Given the description of an element on the screen output the (x, y) to click on. 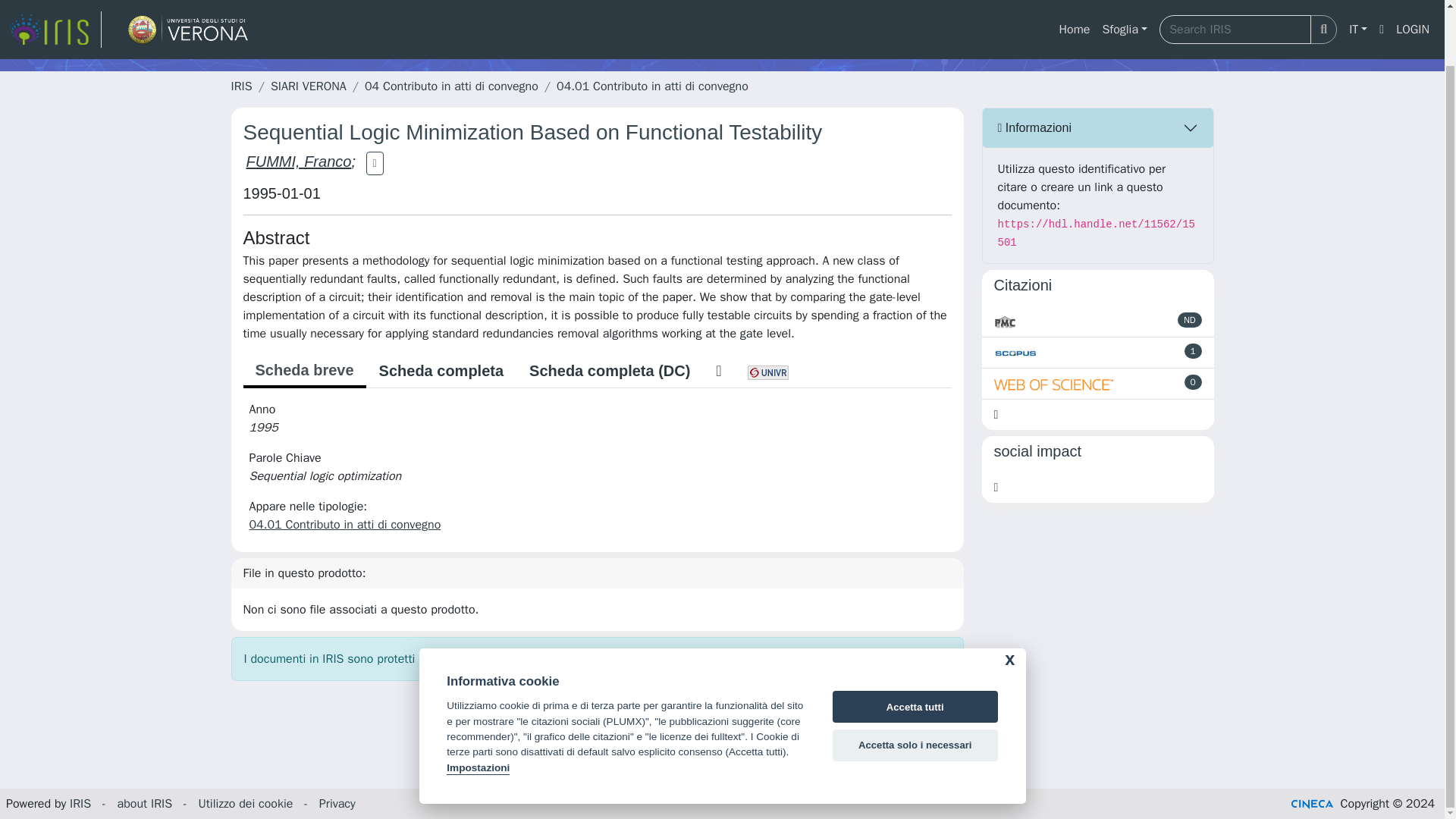
aggiornato in data 17-08-2024 17:50 (1193, 350)
Scheda breve (304, 371)
SIARI VERONA (308, 86)
Scheda completa (441, 370)
IRIS (79, 803)
FUMMI, Franco (298, 161)
IRIS (240, 86)
04 Contributo in atti di convegno (451, 86)
04.01 Contributo in atti di convegno (652, 86)
04.01 Contributo in atti di convegno (344, 524)
